Given the description of an element on the screen output the (x, y) to click on. 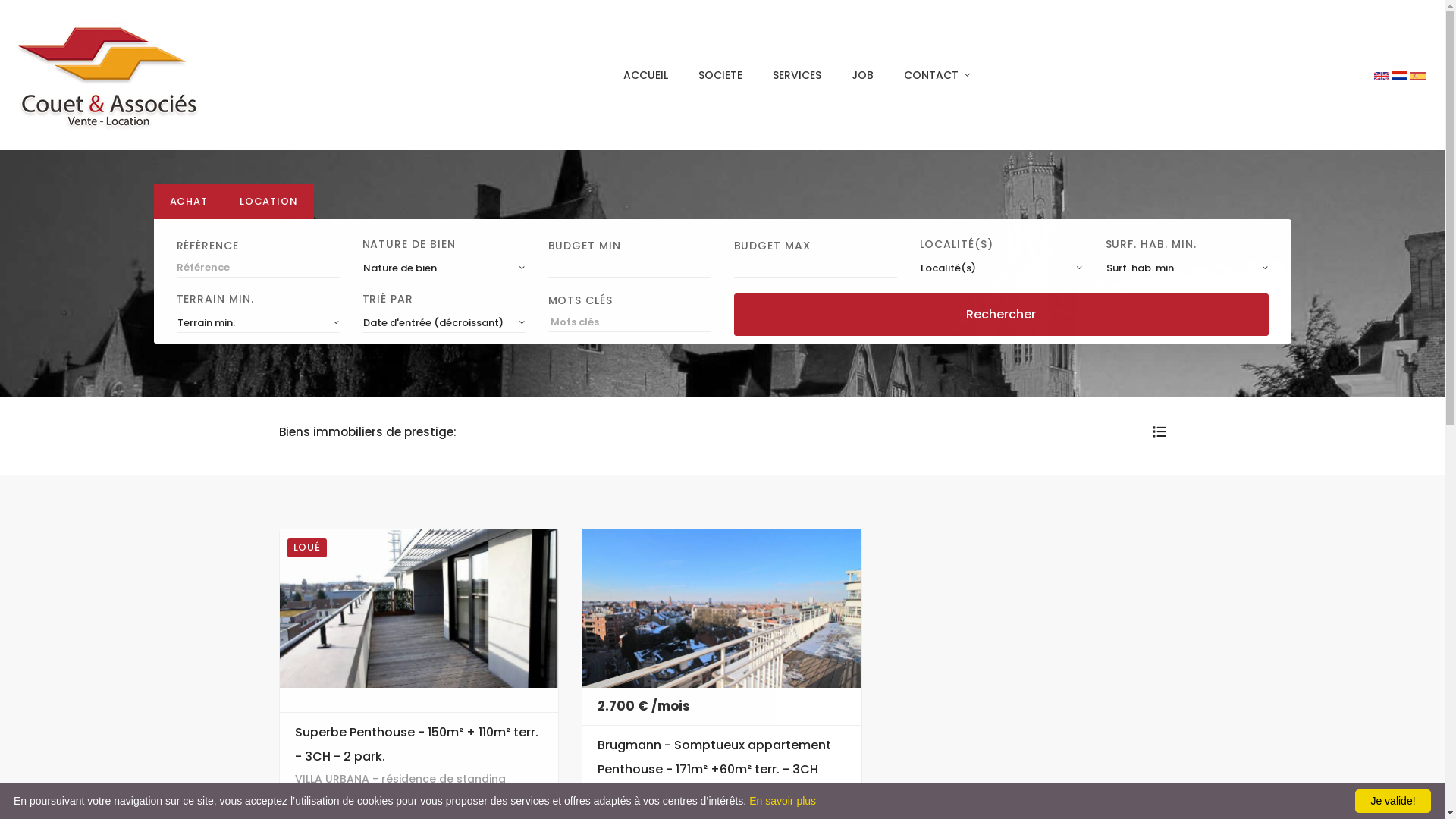
En savoir plus Element type: text (782, 800)
SOCIETE Element type: text (720, 74)
JOB Element type: text (862, 74)
Surf. hab. min. Element type: text (1186, 268)
CONTACT Element type: text (936, 74)
ACHAT Element type: text (187, 201)
Terrain min. Element type: text (256, 322)
LOCATION Element type: text (268, 201)
SERVICES Element type: text (796, 74)
Nature de bien Element type: text (443, 268)
ACCUEIL Element type: text (645, 74)
Rechercher Element type: text (1001, 314)
